Given the description of an element on the screen output the (x, y) to click on. 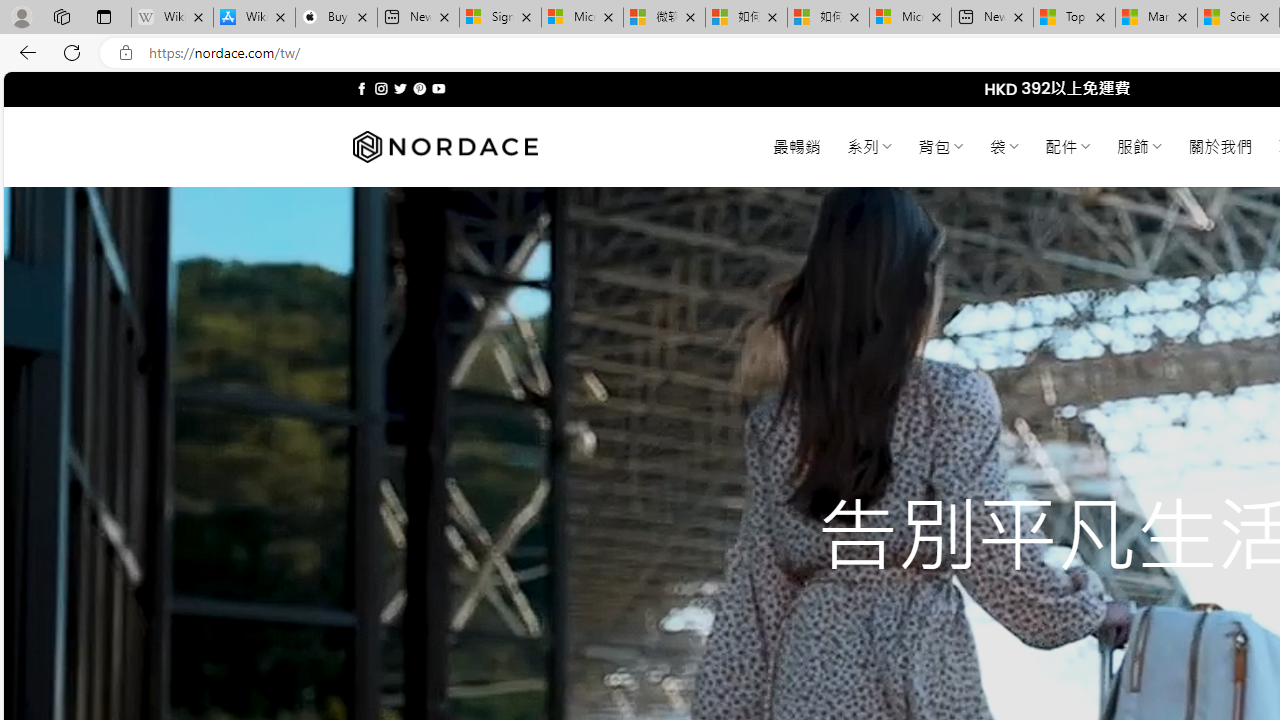
Follow on YouTube (438, 88)
